Given the description of an element on the screen output the (x, y) to click on. 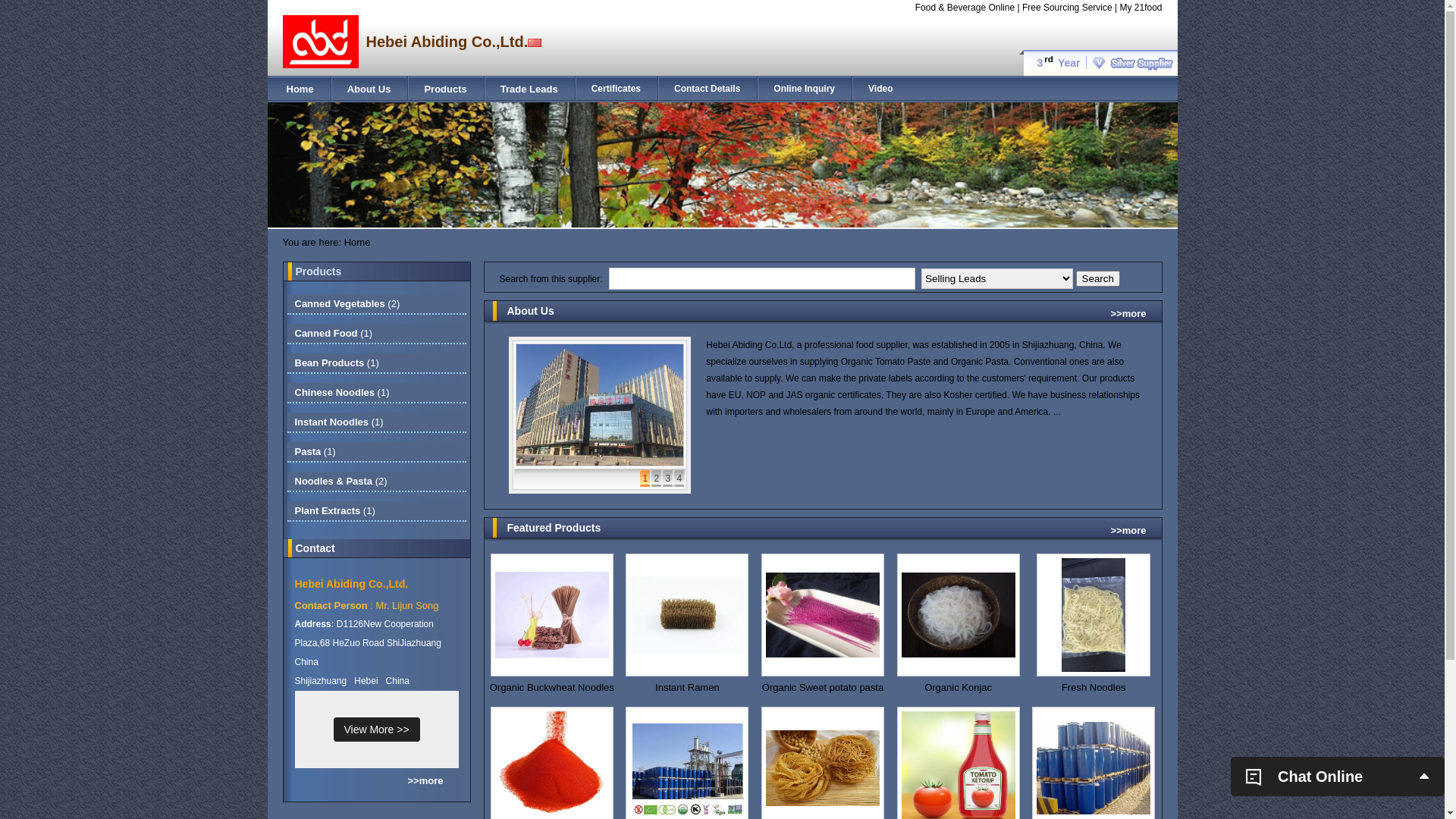
Canned Vegetables (2) Element type: text (346, 303)
Certificates Element type: text (615, 88)
Canned Food (1) Element type: text (333, 332)
Chinese Noodles (1) Element type: text (341, 392)
Online Inquiry Element type: text (803, 88)
Noodles & Pasta (2) Element type: text (340, 480)
Products Element type: text (444, 88)
Plant Extracts (1) Element type: text (334, 510)
1 Element type: text (644, 478)
Food & Beverage Online Element type: text (964, 7)
Video Element type: text (880, 88)
Contact Details Element type: text (707, 88)
Pasta (1) Element type: text (314, 451)
Hebei Abiding Co.,Ltd. Element type: text (350, 583)
My 21food Element type: text (1140, 7)
Home Element type: text (299, 88)
2 Element type: text (656, 478)
3 Element type: text (667, 478)
About Us Element type: text (369, 88)
View More >> Element type: text (376, 729)
>>more Element type: text (425, 780)
Instant Ramen Element type: text (687, 687)
Organic Konjac Noodles,Organic Shittake Noode, Konjac Pasta Element type: text (958, 687)
>>more Element type: text (1128, 313)
Trade Leads Element type: text (529, 88)
Fresh Noodles Element type: text (1093, 687)
Organic Sweet potato pasta Element type: text (823, 687)
Instant Noodles (1) Element type: text (338, 421)
Organic Buckwheat Noodles Element type: text (552, 687)
3rdYear Element type: text (1098, 62)
Free Sourcing Service Element type: text (1067, 7)
4 Element type: text (679, 478)
>>more Element type: text (1128, 530)
Contact Element type: text (315, 548)
Bean Products (1) Element type: text (336, 362)
Search Element type: text (1098, 278)
Products Element type: text (318, 271)
